Given the description of an element on the screen output the (x, y) to click on. 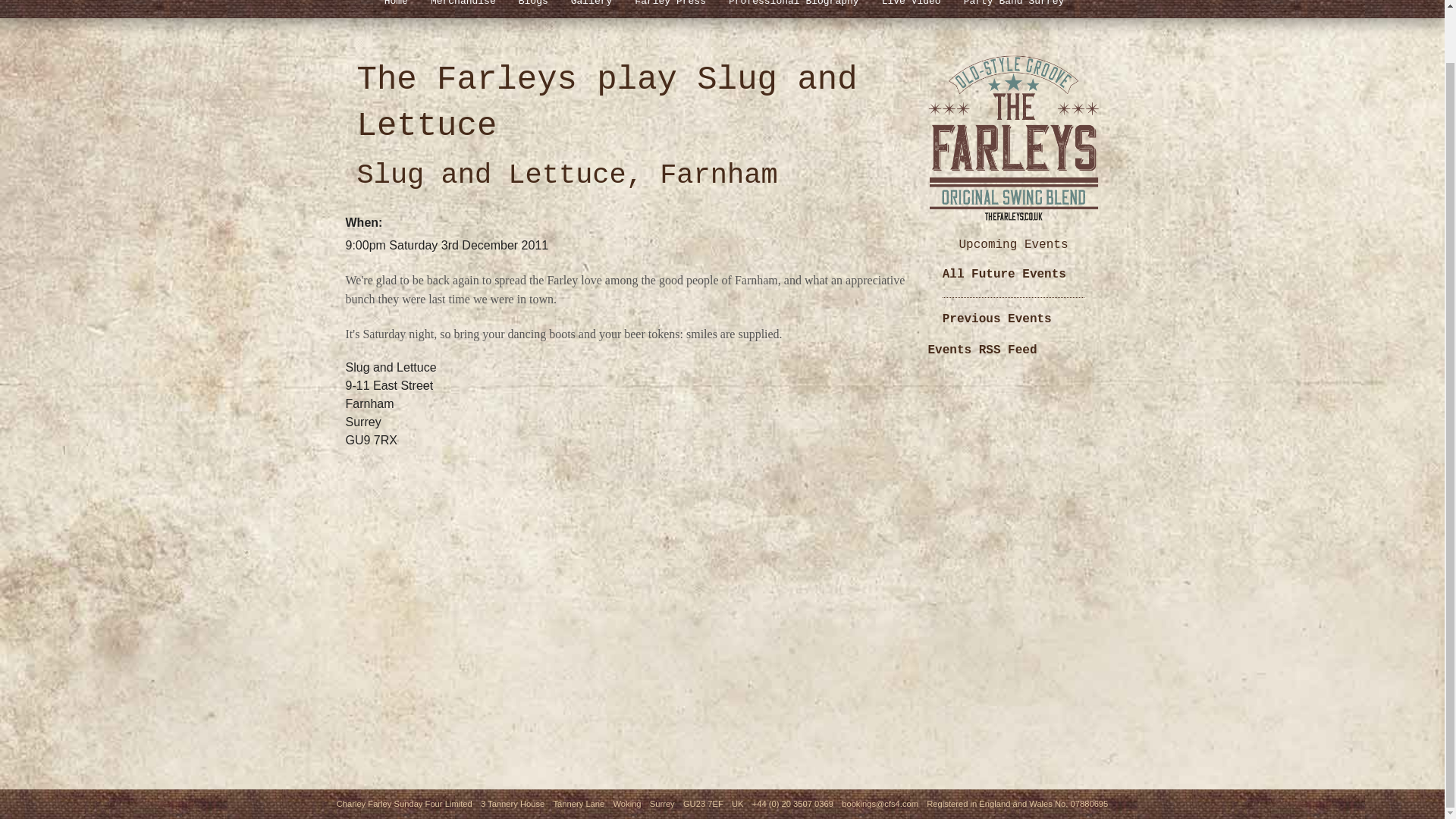
Events RSS Feed (982, 350)
Merchandise (462, 9)
Party Band Surrey (1013, 9)
Farley Press (670, 9)
Live Video (911, 9)
Professional Biography (793, 9)
Previous Events (996, 318)
Biogs (532, 9)
All Future Events (1003, 274)
Gallery (591, 9)
